Given the description of an element on the screen output the (x, y) to click on. 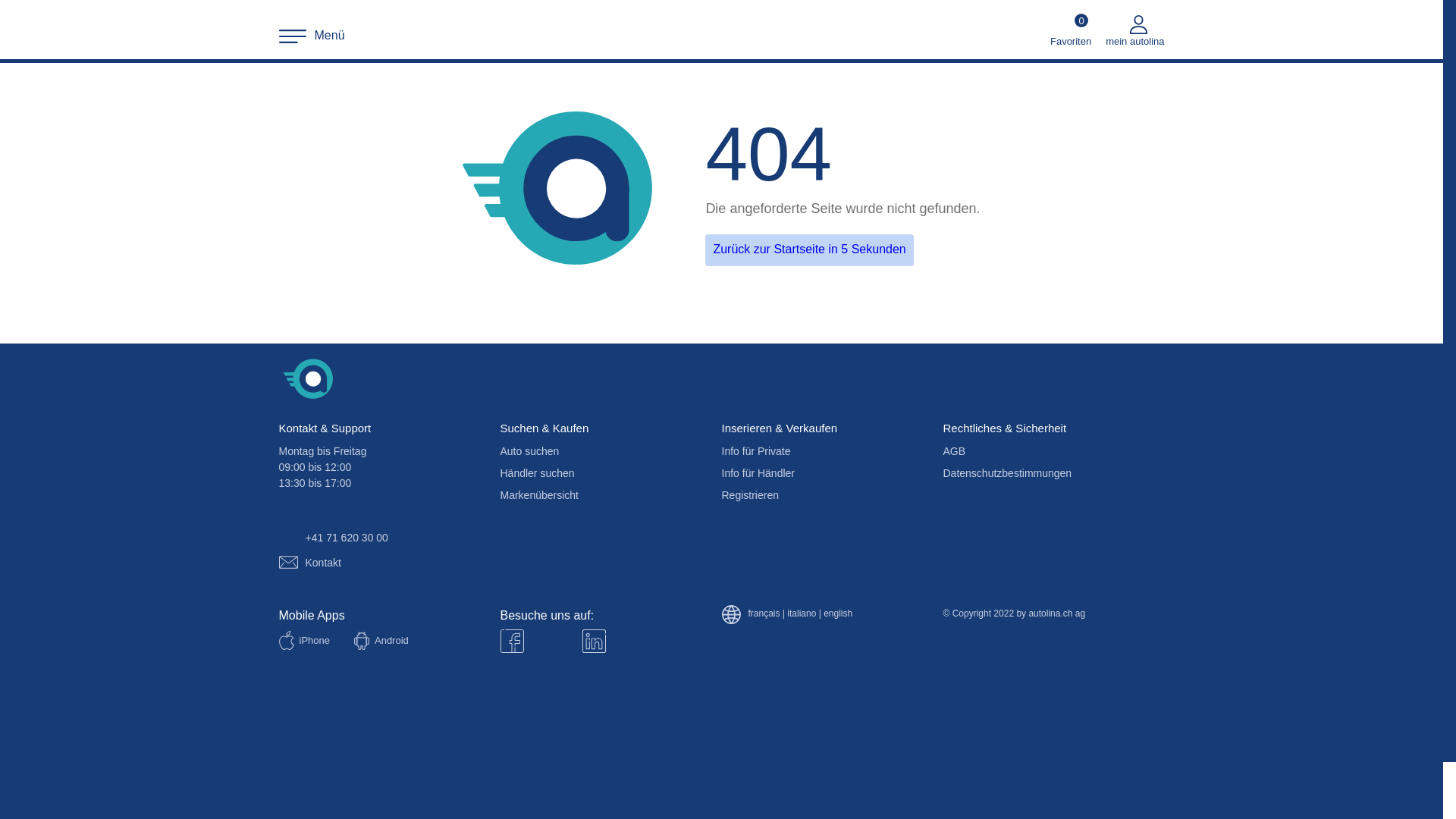
Android Element type: text (381, 640)
AGB Element type: text (953, 451)
italiano Element type: text (801, 613)
0
Favoriten Element type: text (1070, 30)
Datenschutzbestimmungen Element type: text (1006, 473)
+41 71 620 30 00 Element type: text (332, 537)
iPhone Element type: text (303, 640)
Auto suchen Element type: text (528, 451)
mein autolina Element type: text (1134, 30)
english Element type: text (837, 613)
Kontakt Element type: text (309, 562)
Registrieren Element type: text (749, 495)
